Given the description of an element on the screen output the (x, y) to click on. 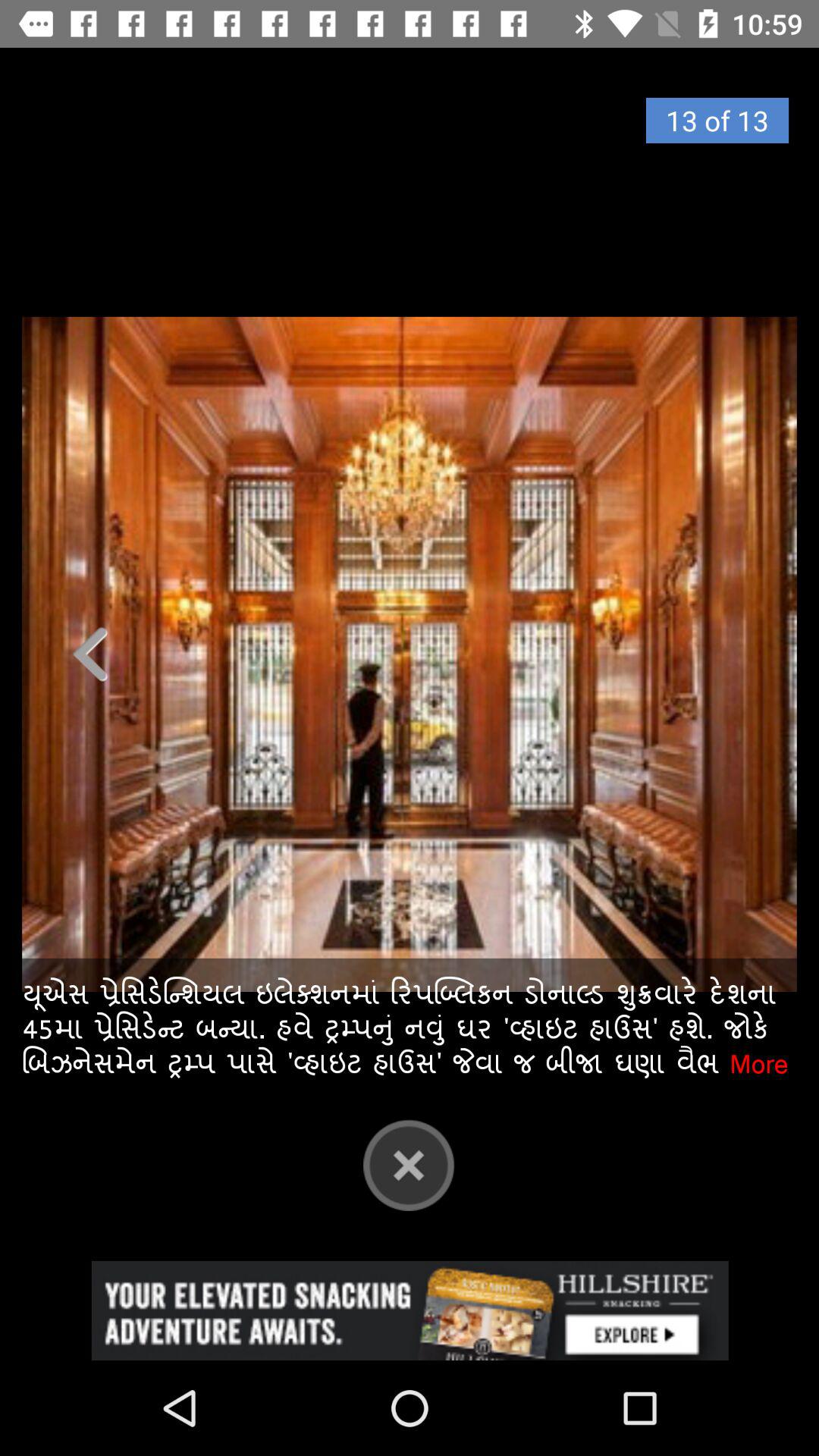
close button (409, 1165)
